Given the description of an element on the screen output the (x, y) to click on. 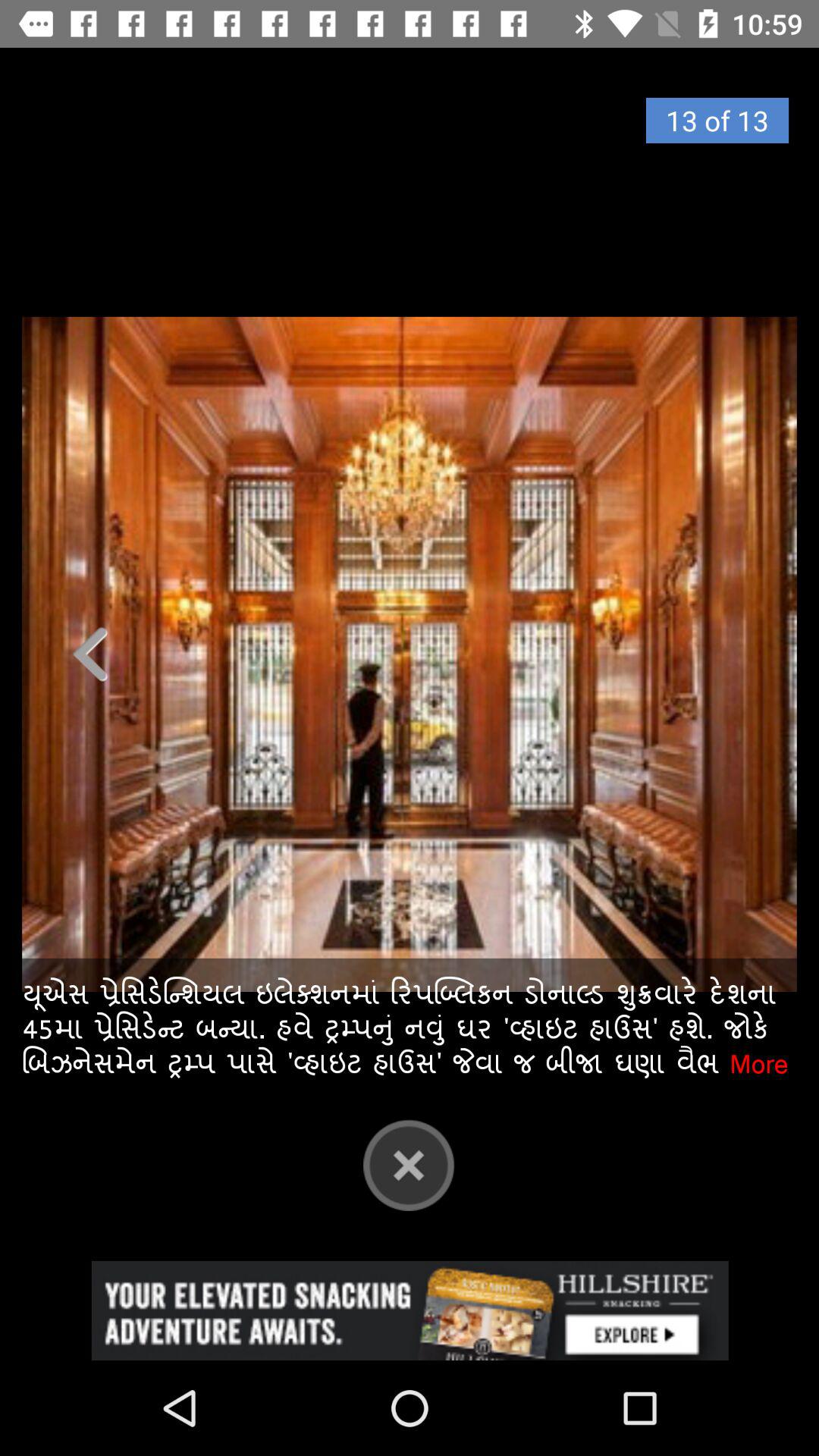
close button (409, 1165)
